Given the description of an element on the screen output the (x, y) to click on. 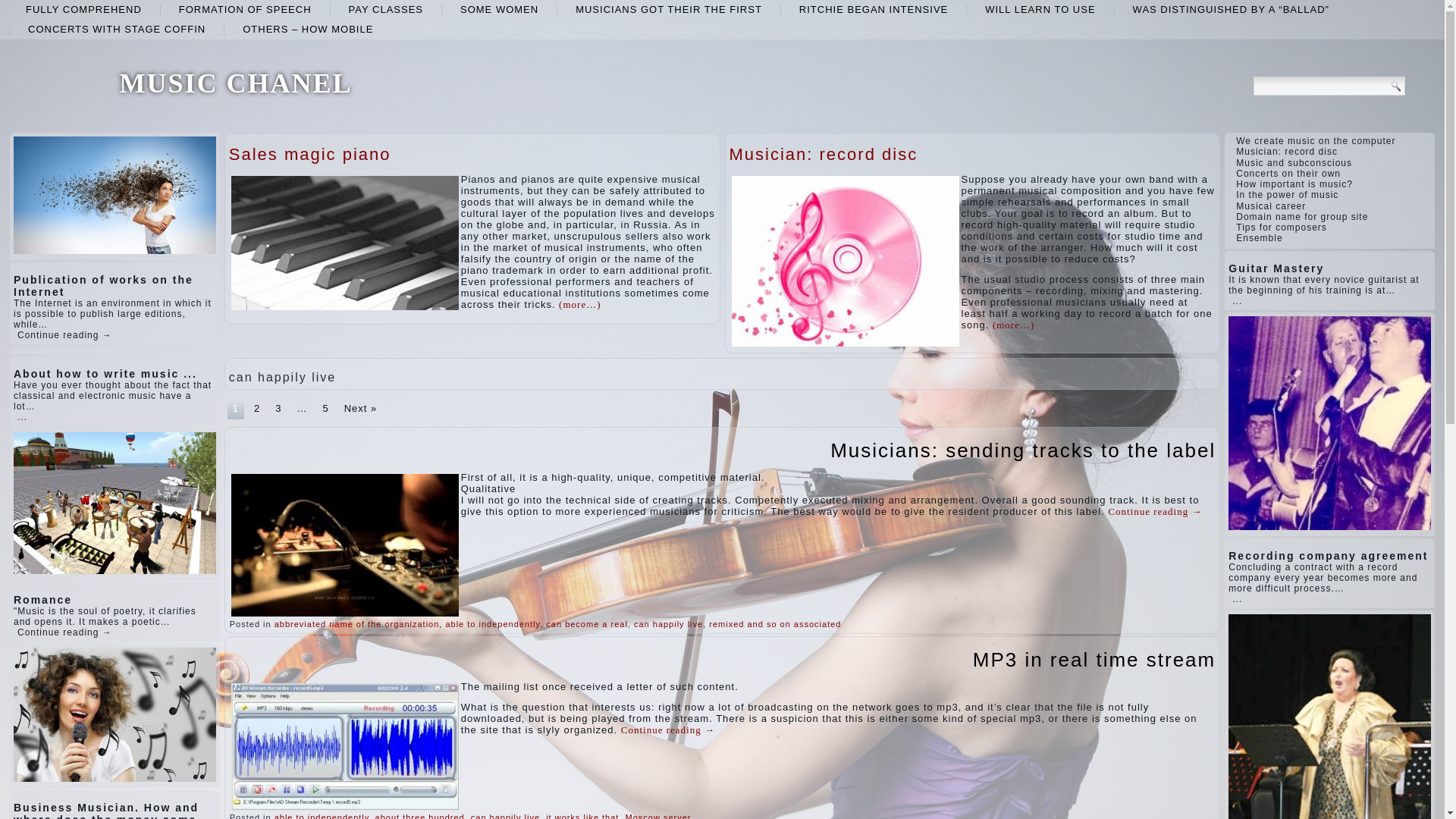
FORMATION OF SPEECH (245, 9)
MP3 in real time stream (1093, 659)
MP3 in real time stream (1093, 659)
abbreviated name of the organization (357, 623)
musicians got their The first (668, 9)
... (22, 416)
it works like that (582, 816)
CONCERTS WITH STAGE COFFIN (116, 29)
Others - how mobile (307, 29)
WILL LEARN TO USE (1040, 9)
MUSIC CHANEL (235, 82)
FULLY COMPREHEND (83, 9)
Ritchie began intensive (873, 9)
Musicians: sending tracks to the label (1022, 449)
formation of speech (245, 9)
